Given the description of an element on the screen output the (x, y) to click on. 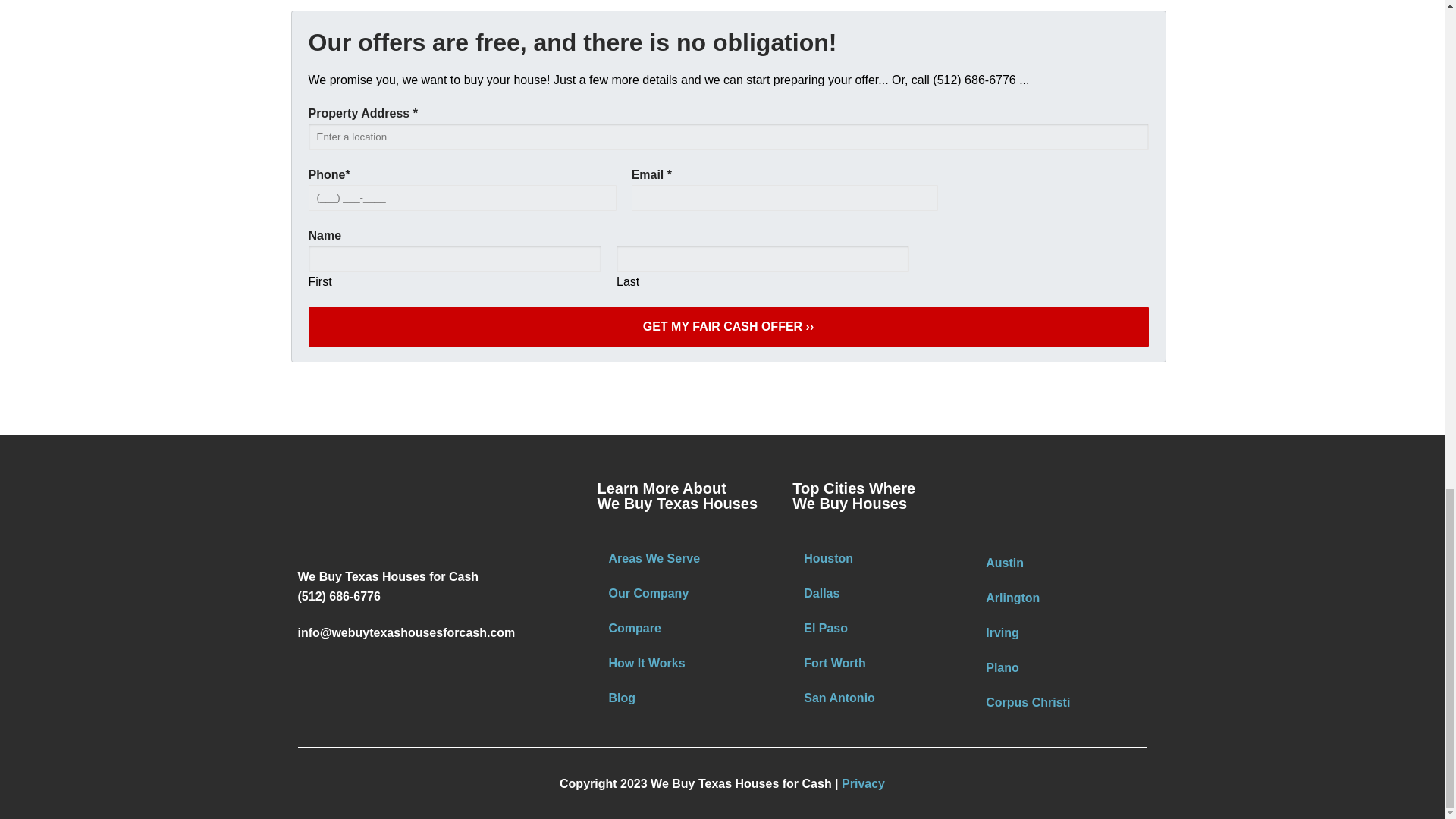
Our Company (686, 593)
How It Works (686, 663)
Areas We Serve (686, 558)
Compare (686, 628)
